Given the description of an element on the screen output the (x, y) to click on. 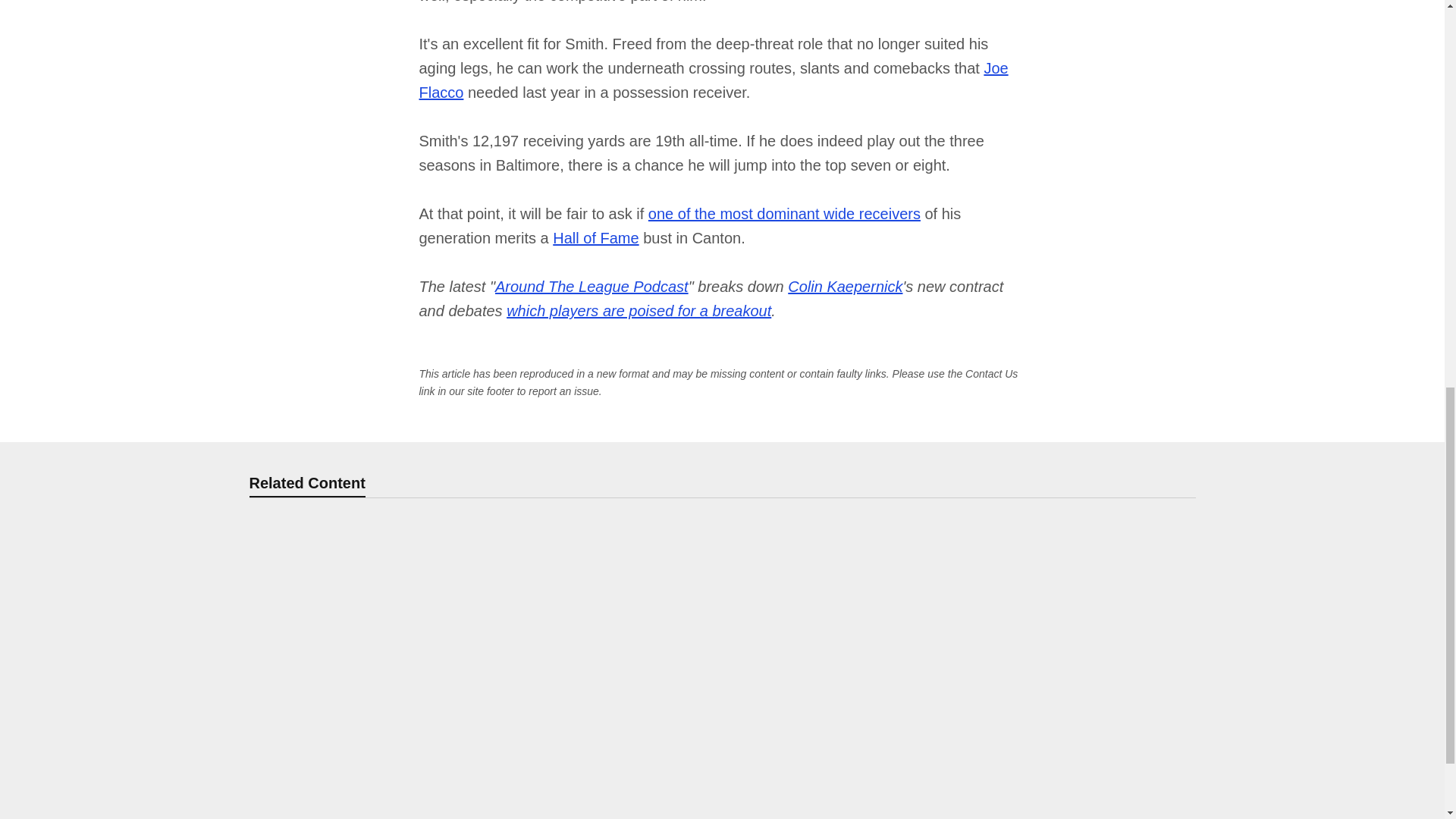
Hall of Fame (596, 238)
Joe Flacco (713, 79)
Colin Kaepernick (844, 286)
Around The League Podcast (591, 286)
one of the most dominant wide receivers (783, 213)
which players are poised for a breakout (638, 310)
